Given the description of an element on the screen output the (x, y) to click on. 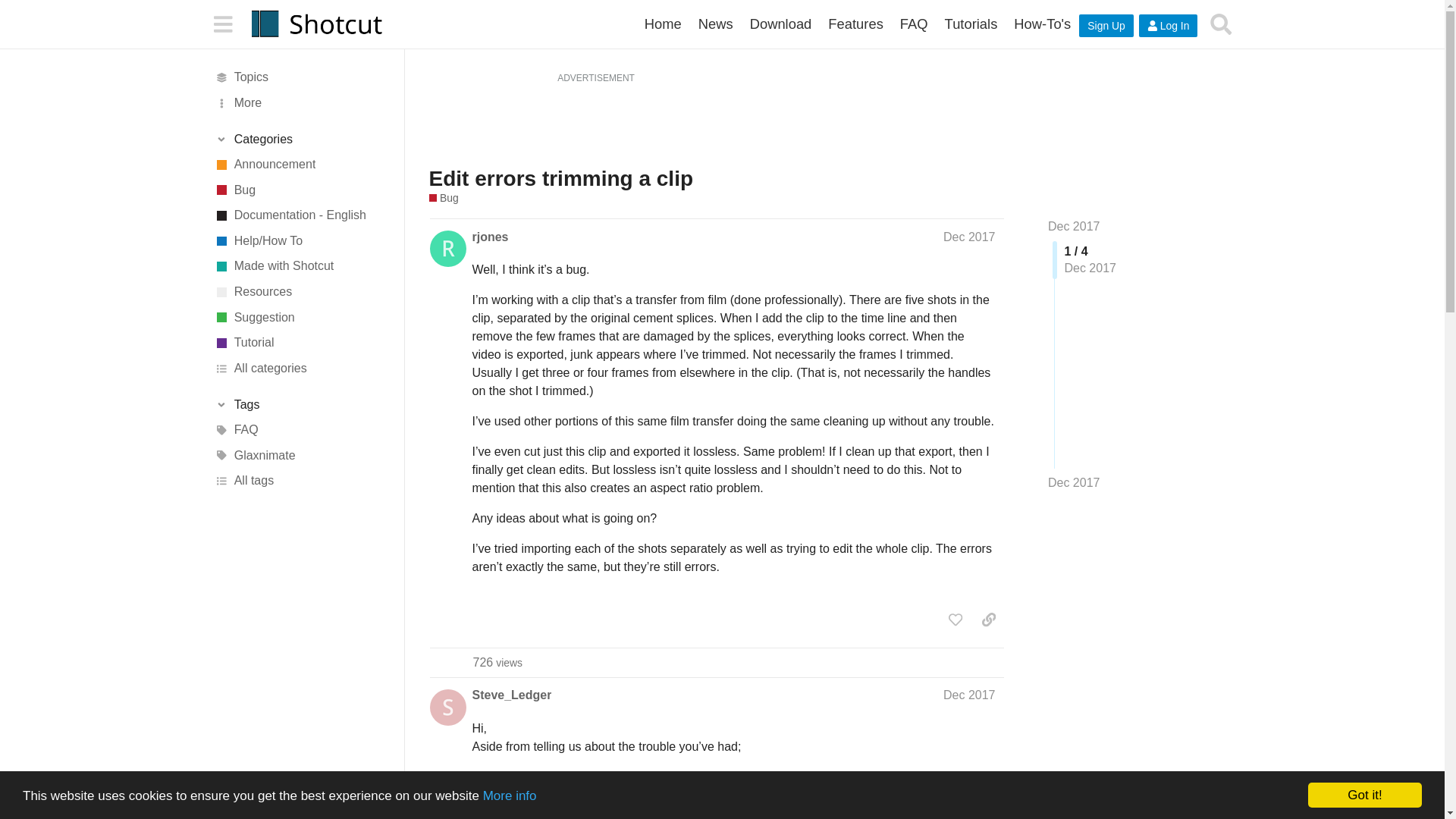
Shotcut Features (855, 23)
How-To's (1042, 23)
Bug (301, 190)
Resources (301, 291)
All categories (301, 368)
Bug (443, 197)
Dec 2017 (1074, 483)
Download (781, 23)
Suggestion (301, 317)
Toggle section (301, 139)
